Given the description of an element on the screen output the (x, y) to click on. 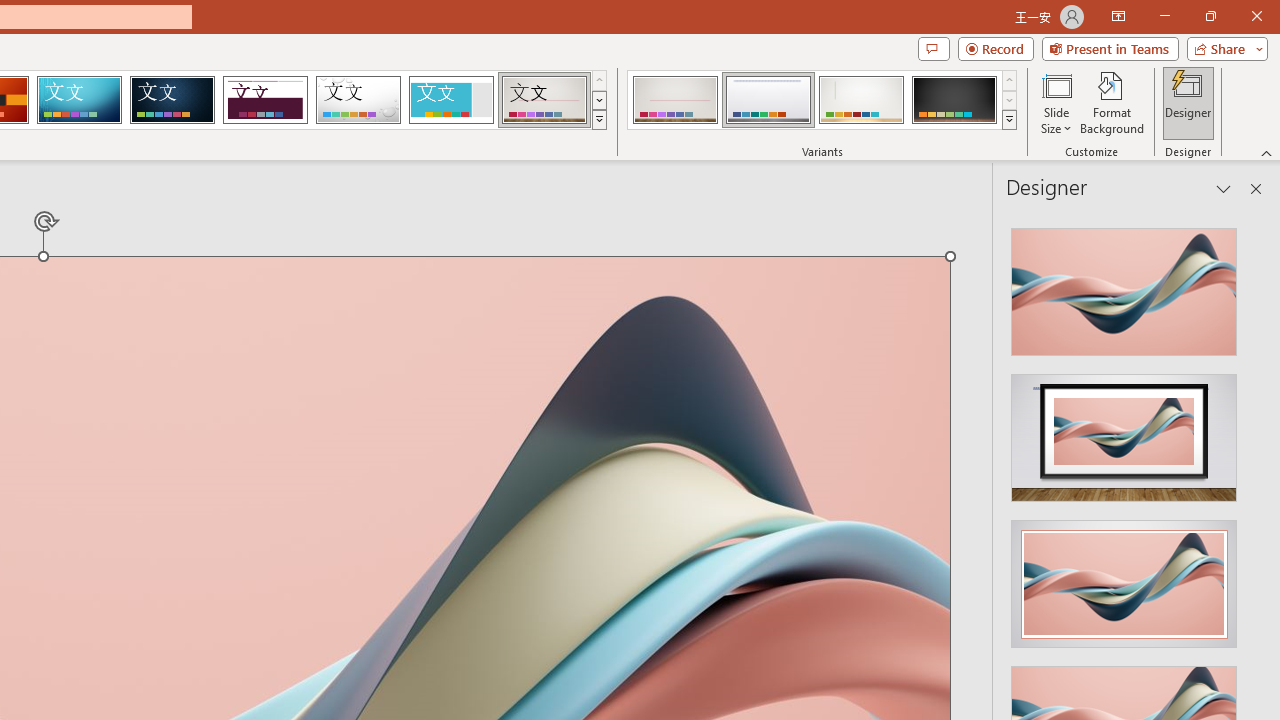
Droplet (358, 100)
Damask (171, 100)
Gallery Variant 2 (768, 100)
Circuit (79, 100)
